Given the description of an element on the screen output the (x, y) to click on. 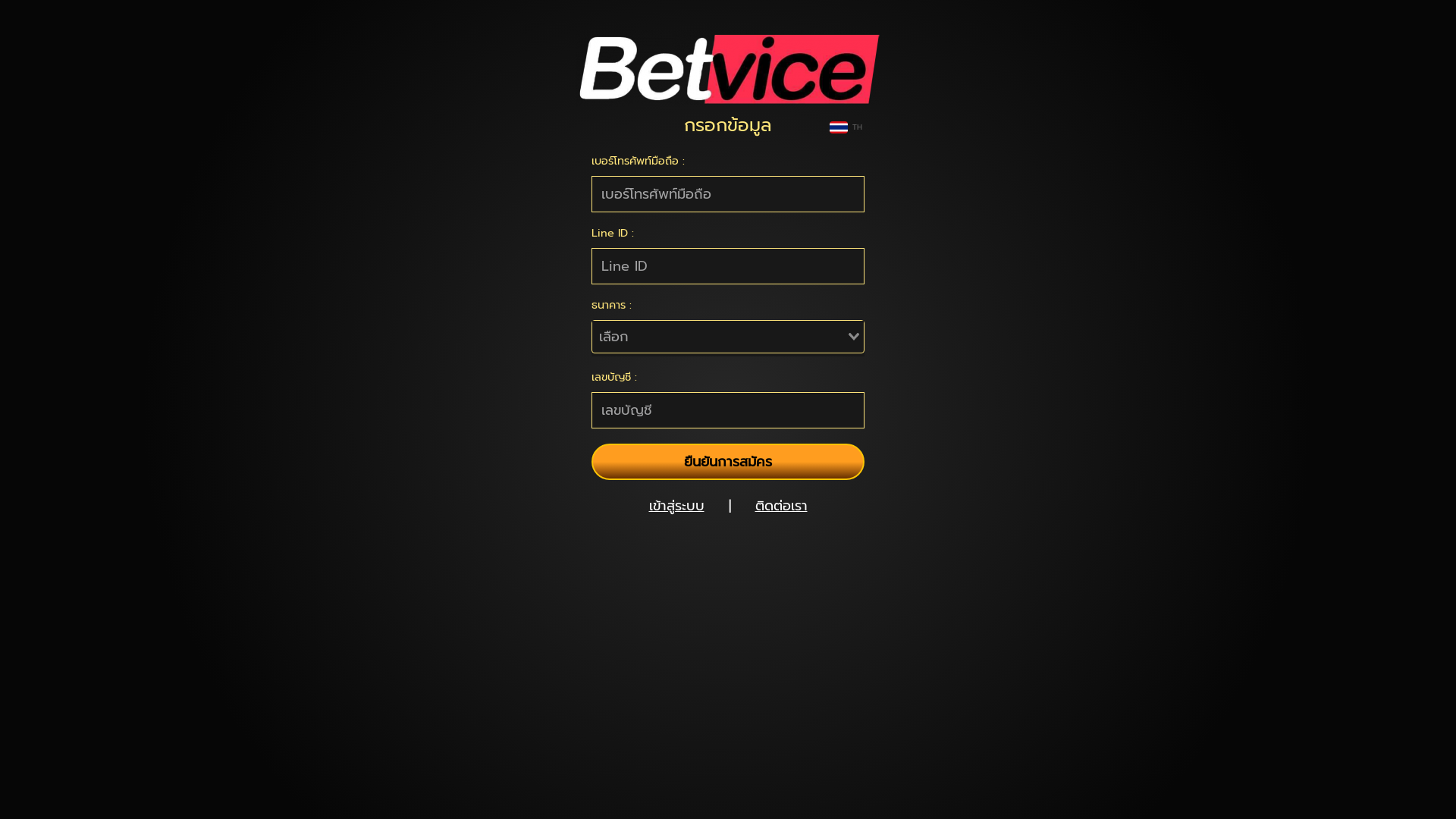
TH Element type: text (848, 126)
